Given the description of an element on the screen output the (x, y) to click on. 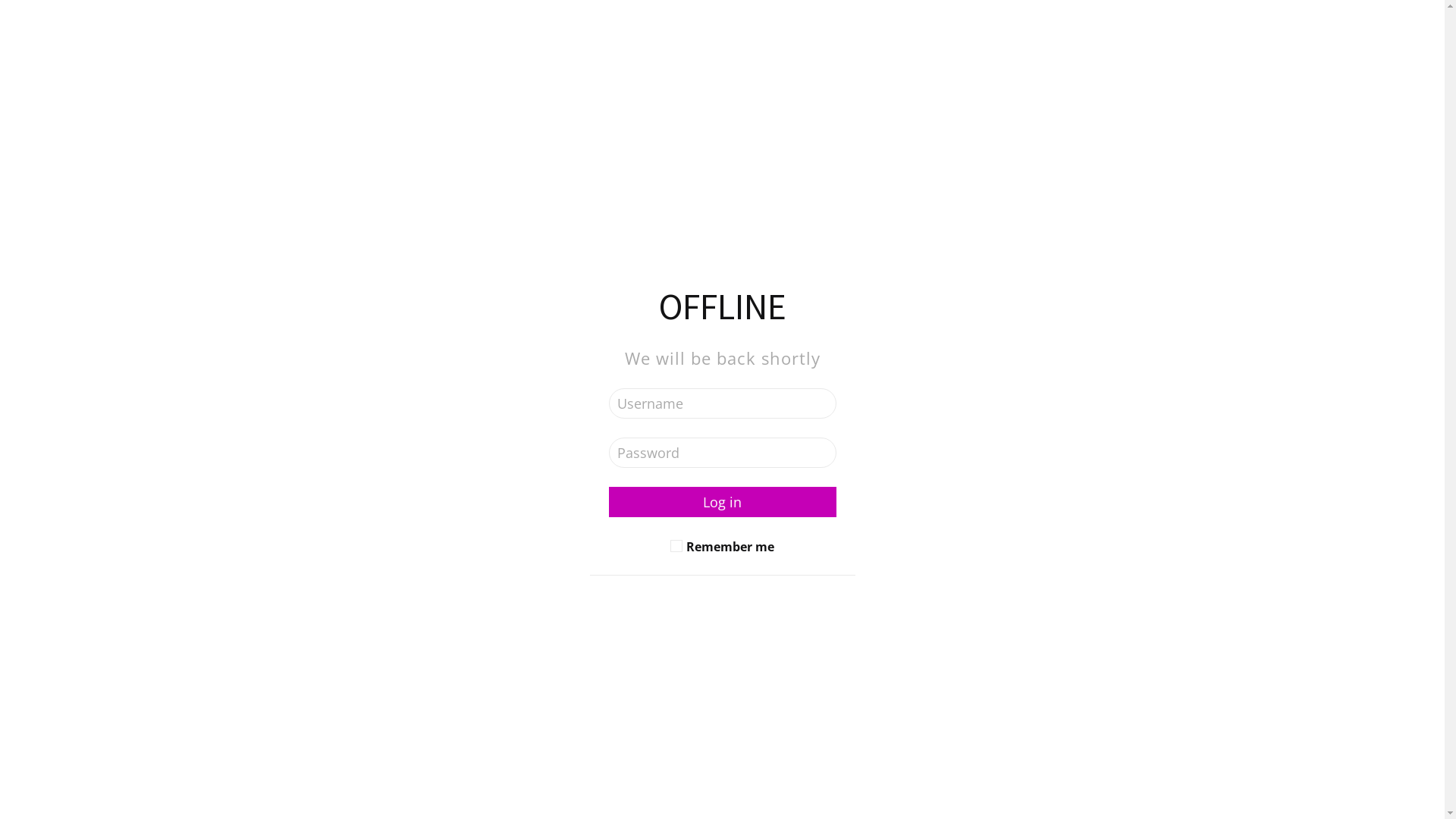
Log in Element type: text (721, 501)
